Given the description of an element on the screen output the (x, y) to click on. 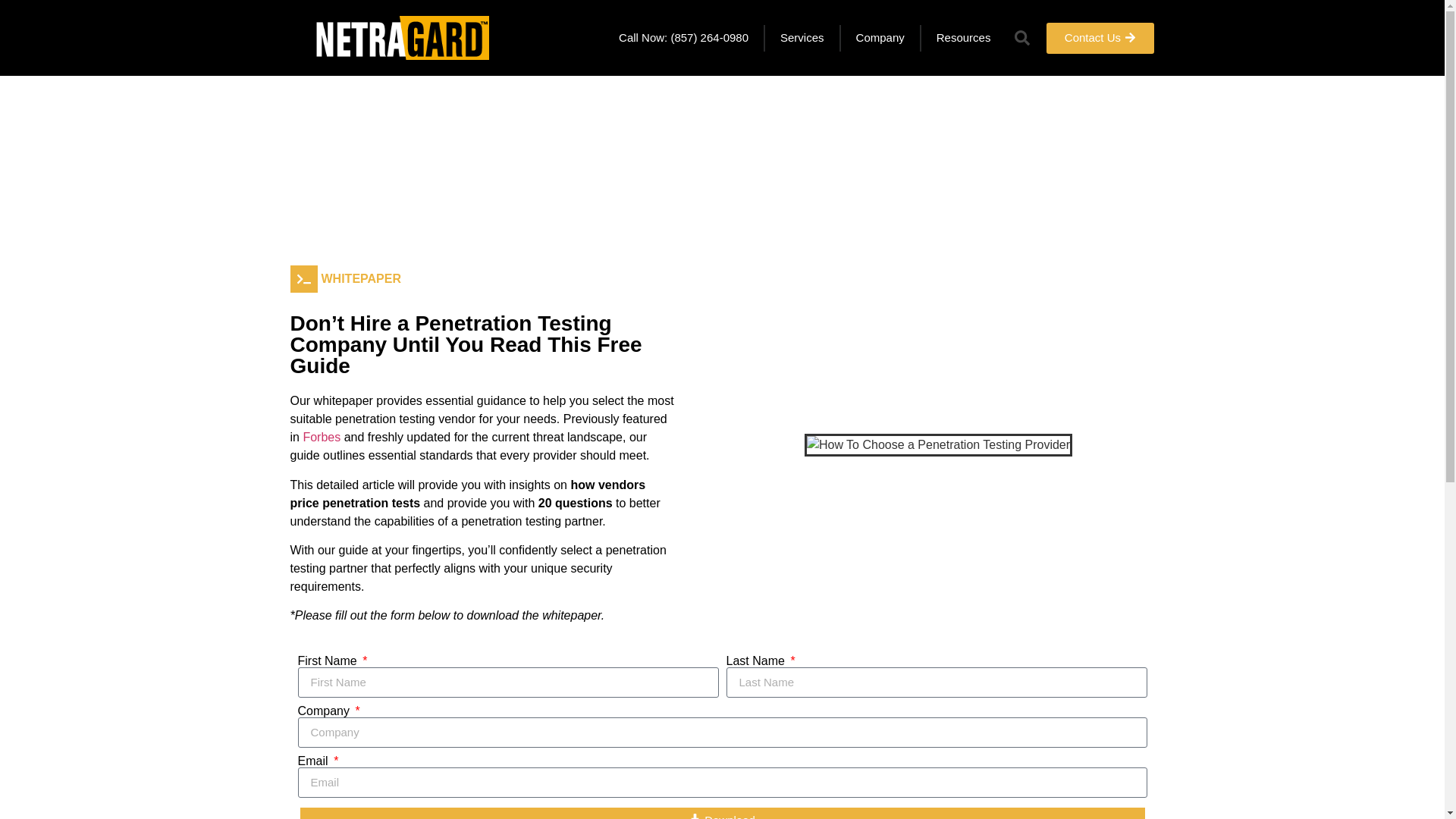
Home (314, 172)
How To Choose a Penetration Testing Provider (938, 445)
Forbes (321, 436)
Contact Us (1100, 38)
Company (880, 38)
Download (722, 812)
Resources (963, 38)
Services (802, 38)
